Given the description of an element on the screen output the (x, y) to click on. 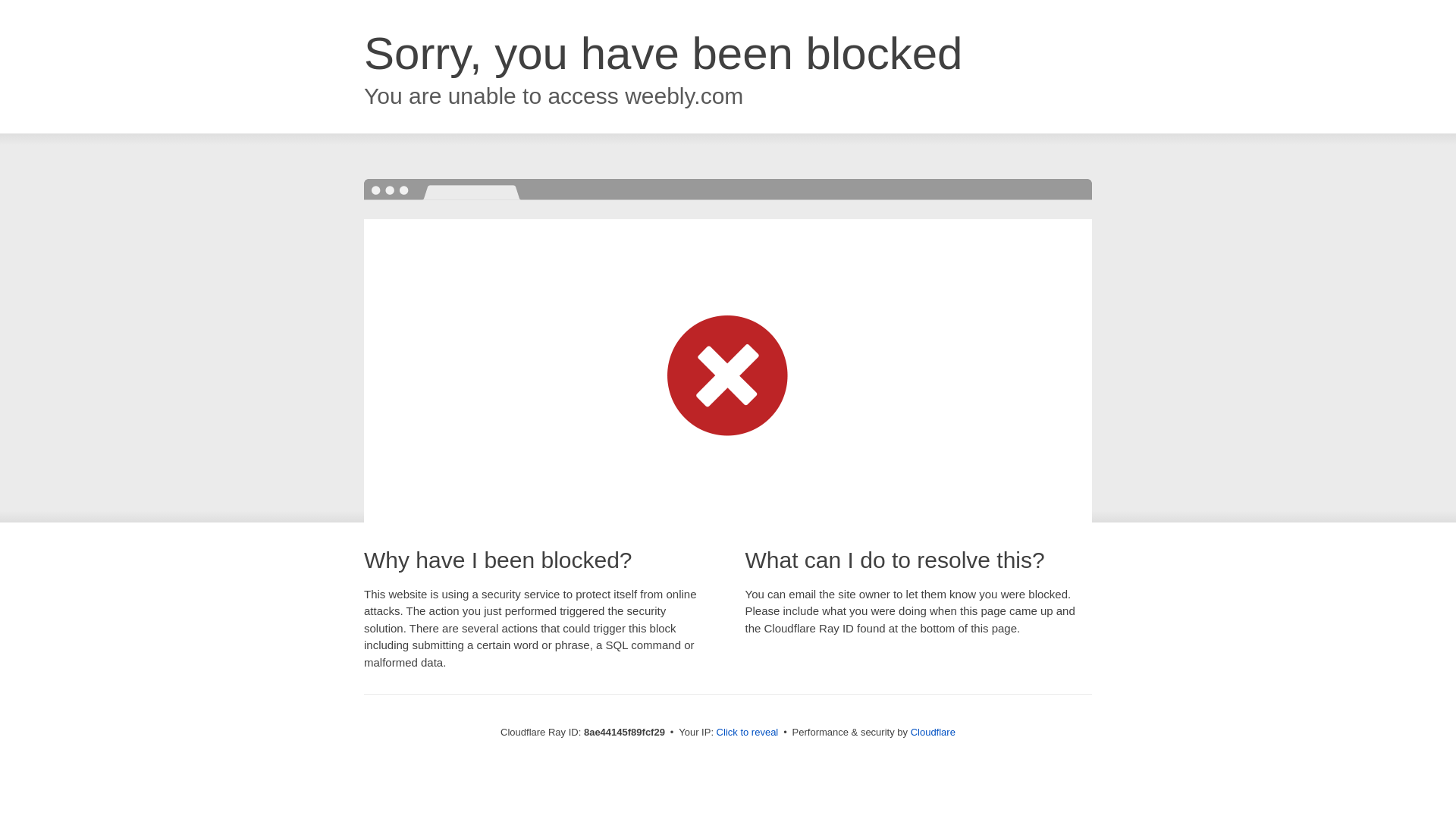
Click to reveal (747, 732)
Cloudflare (933, 731)
